Given the description of an element on the screen output the (x, y) to click on. 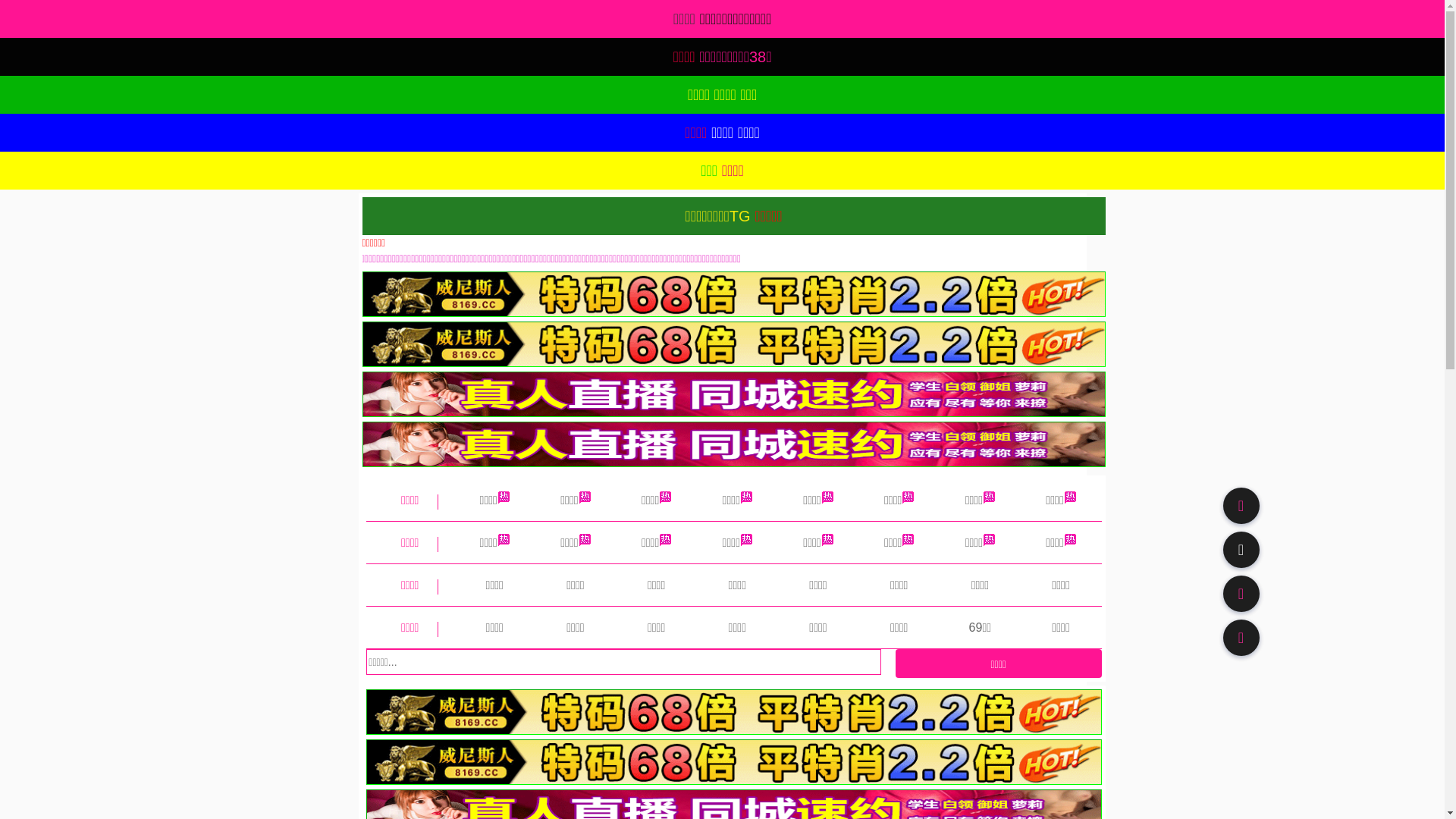
91TV Element type: hover (1240, 593)
